Given the description of an element on the screen output the (x, y) to click on. 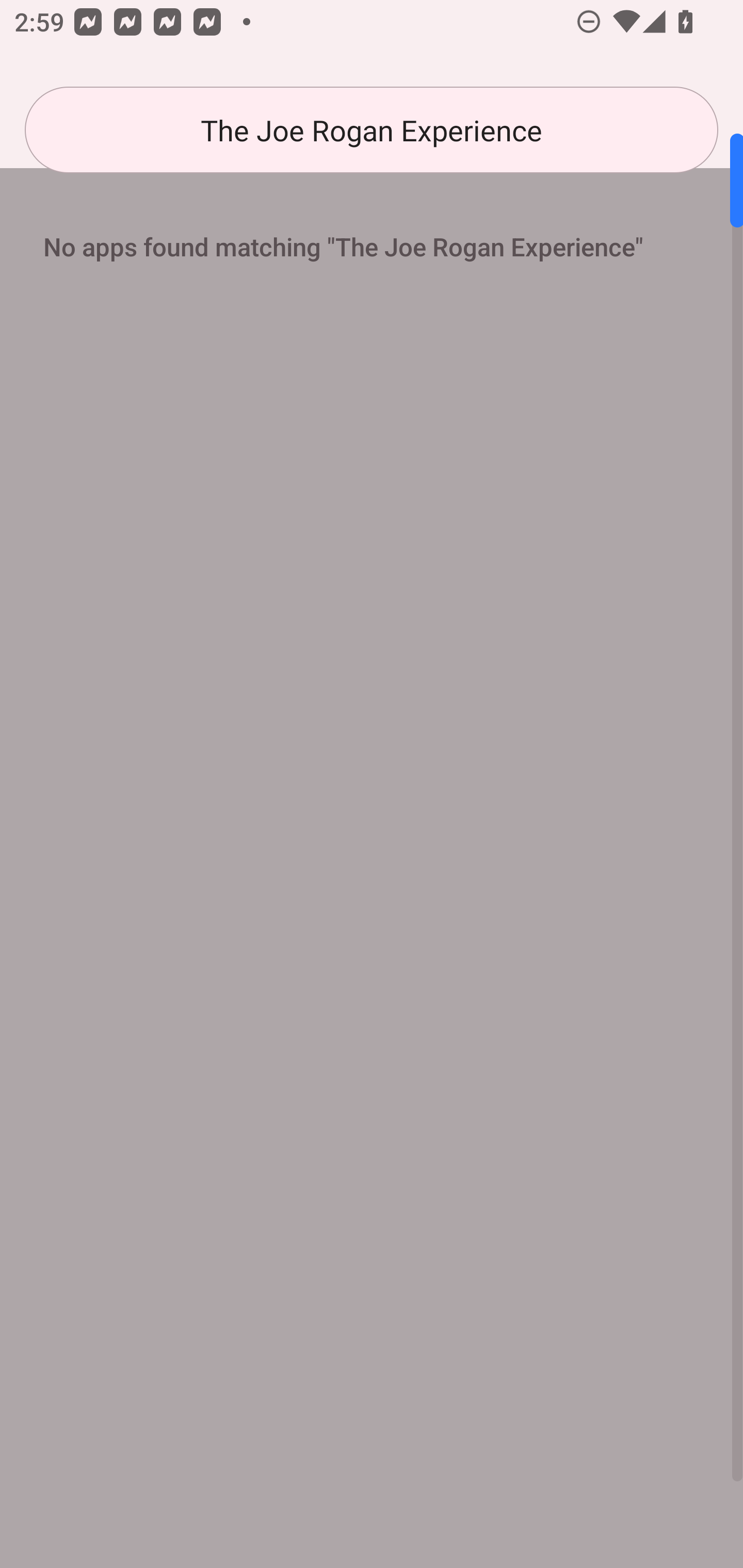
The Joe Rogan Experience (371, 130)
